Given the description of an element on the screen output the (x, y) to click on. 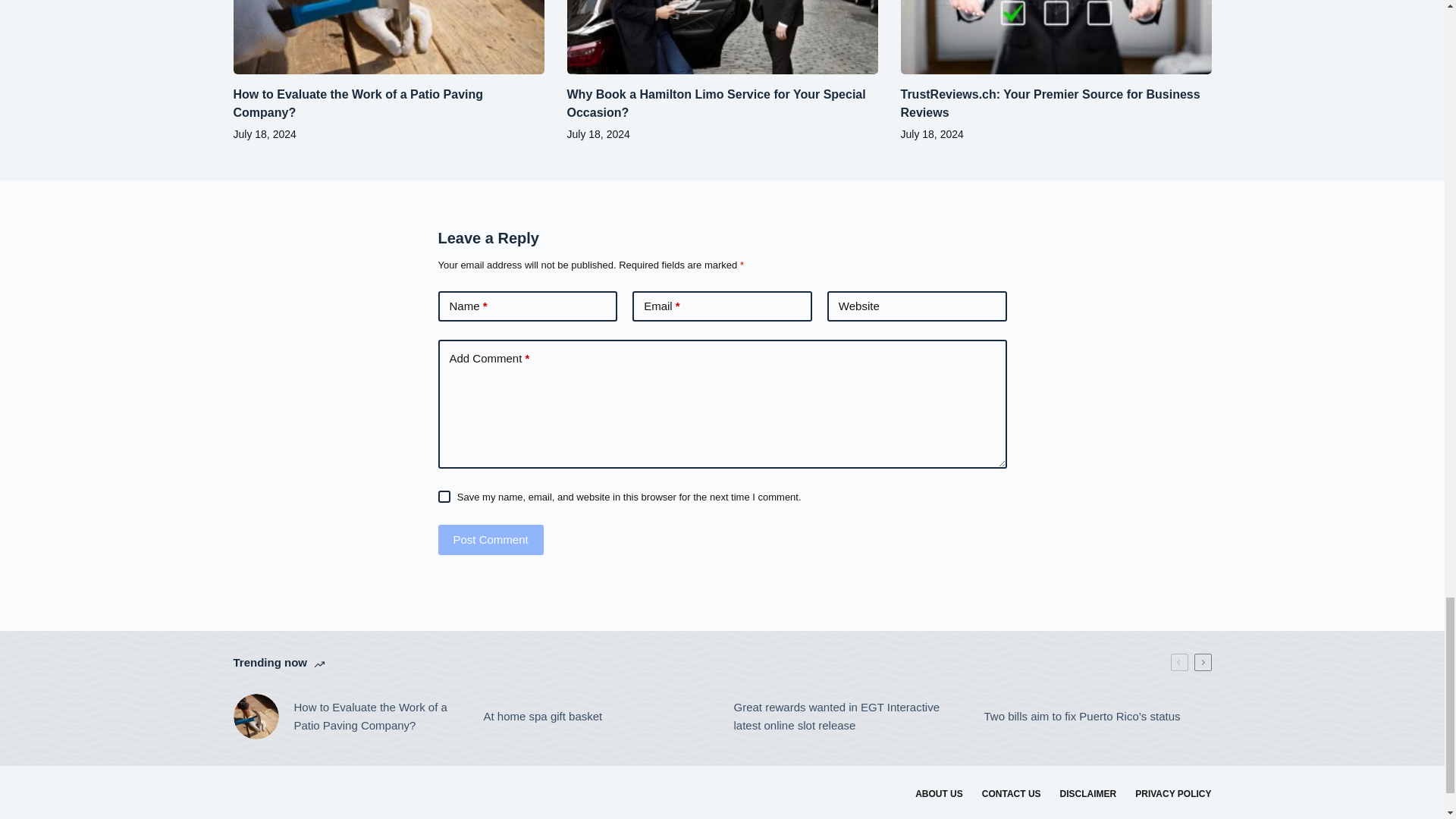
yes (443, 496)
